Given the description of an element on the screen output the (x, y) to click on. 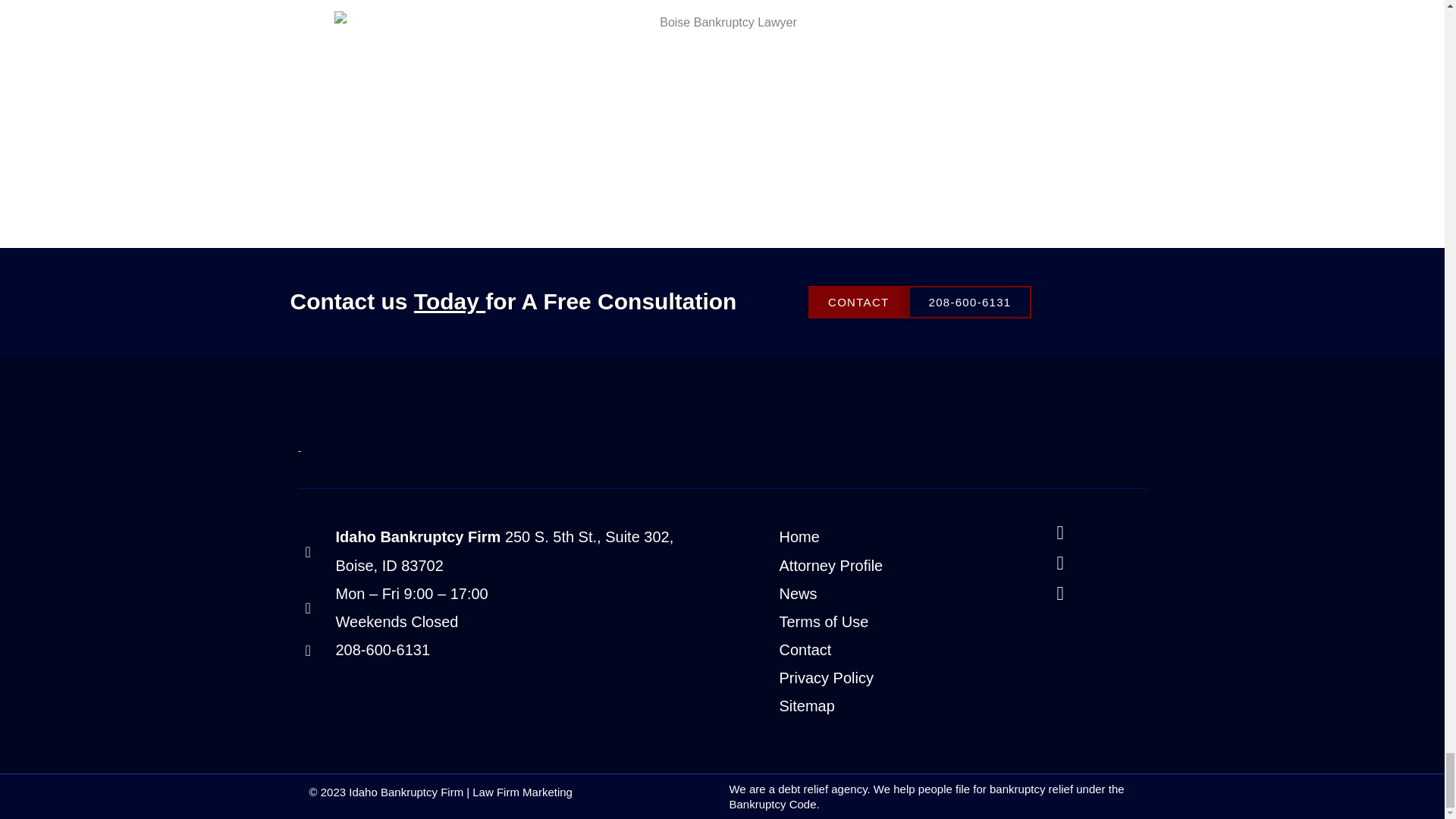
CONTACT (858, 301)
208-600-6131 (509, 650)
208-600-6131 (969, 301)
